Given the description of an element on the screen output the (x, y) to click on. 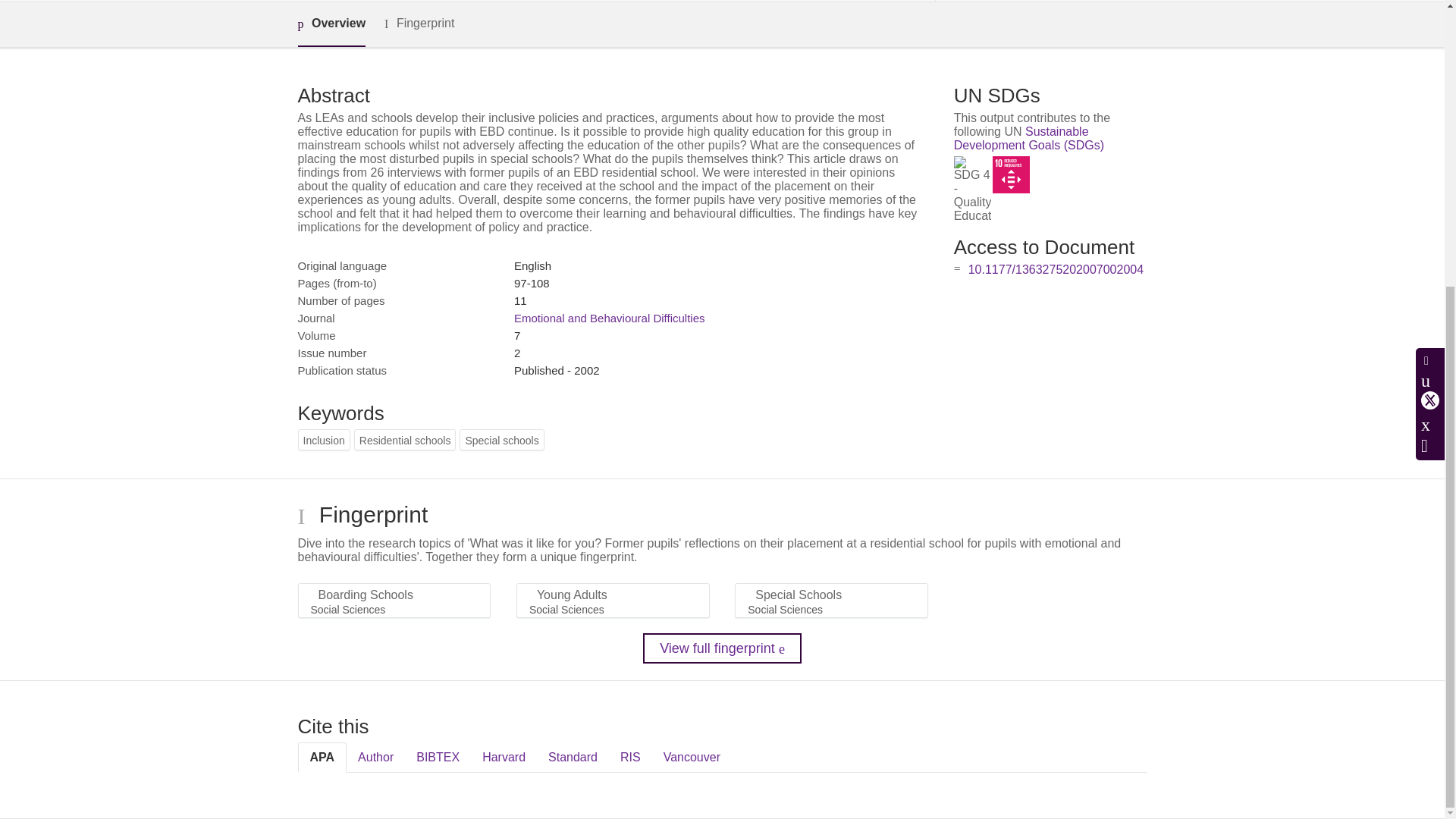
SDG 10 - Reduced Inequalities (1010, 174)
View full fingerprint (722, 648)
Overview (331, 24)
Fingerprint (419, 23)
Emotional and Behavioural Difficulties (608, 318)
